Given the description of an element on the screen output the (x, y) to click on. 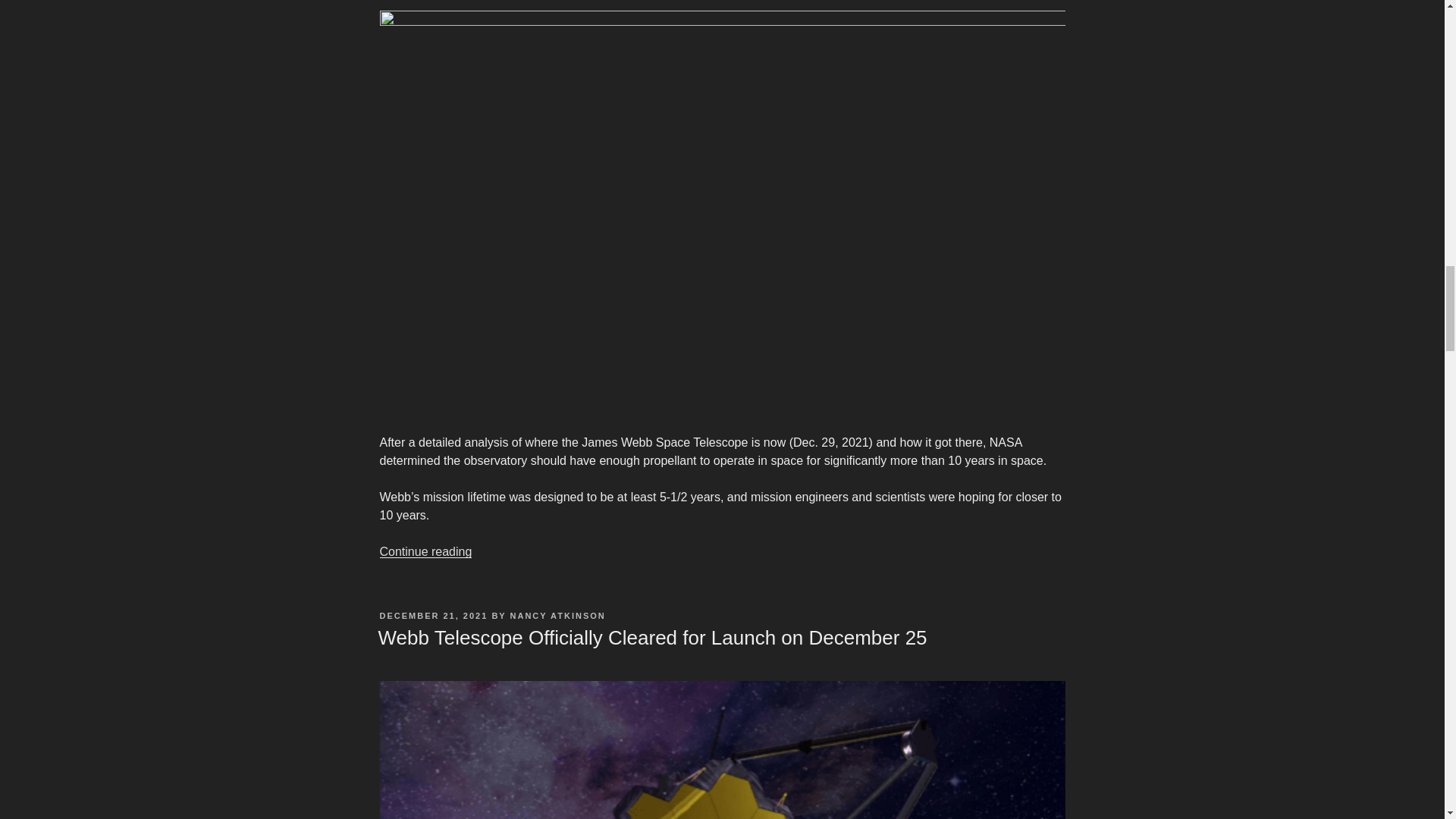
Webb Telescope Officially Cleared for Launch on December 25 (651, 637)
DECEMBER 21, 2021 (432, 614)
NANCY ATKINSON (558, 614)
